Given the description of an element on the screen output the (x, y) to click on. 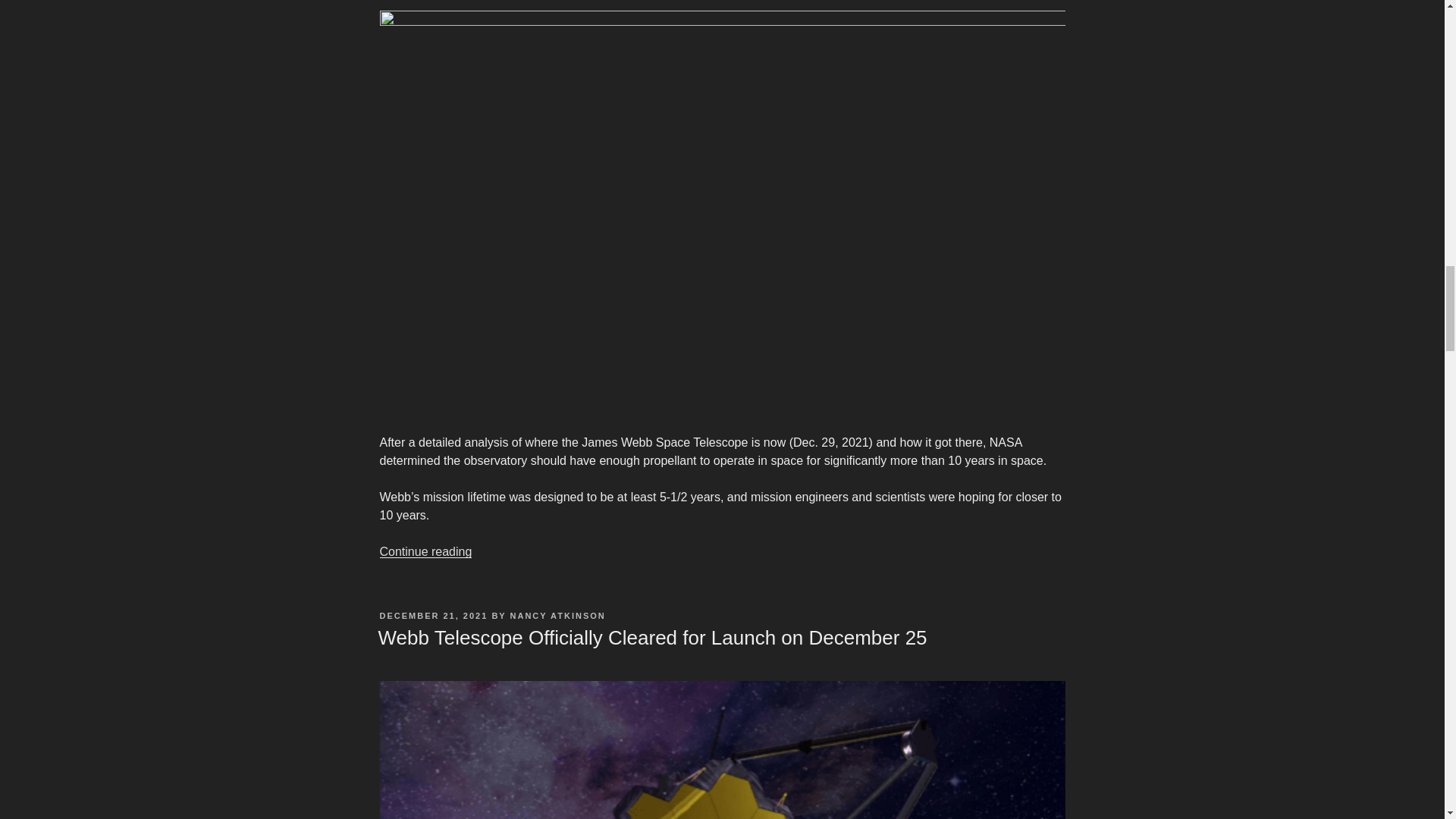
Webb Telescope Officially Cleared for Launch on December 25 (651, 637)
DECEMBER 21, 2021 (432, 614)
NANCY ATKINSON (558, 614)
